Given the description of an element on the screen output the (x, y) to click on. 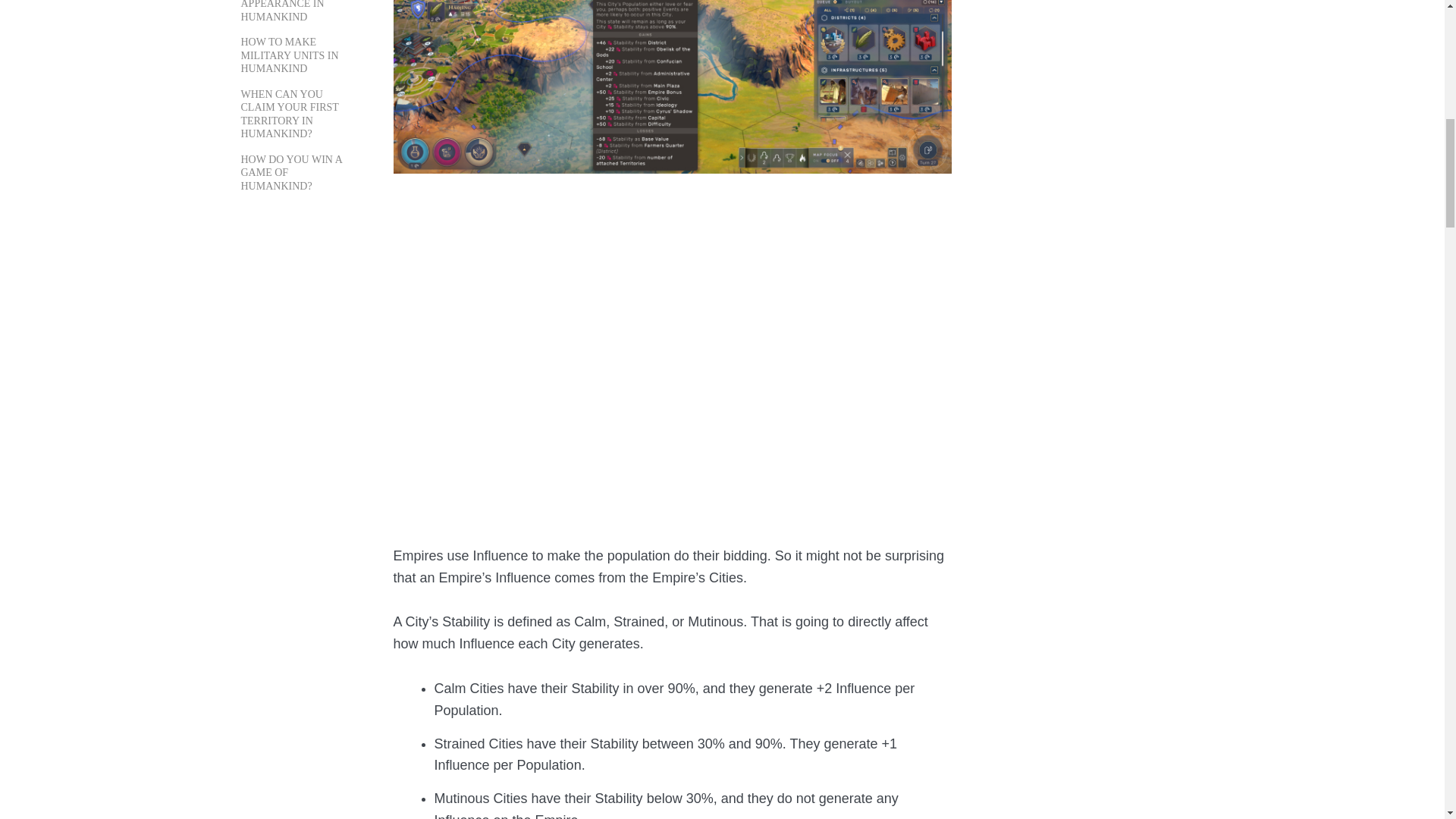
HOW DO YOU WIN A GAME OF HUMANKIND? (291, 172)
HOW TO MAKE MILITARY UNITS IN HUMANKIND (290, 55)
WHEN CAN YOU CLAIM YOUR FIRST TERRITORY IN HUMANKIND? (290, 114)
HOW TO EDIT YOUR APPEARANCE IN HUMANKIND (291, 11)
